Given the description of an element on the screen output the (x, y) to click on. 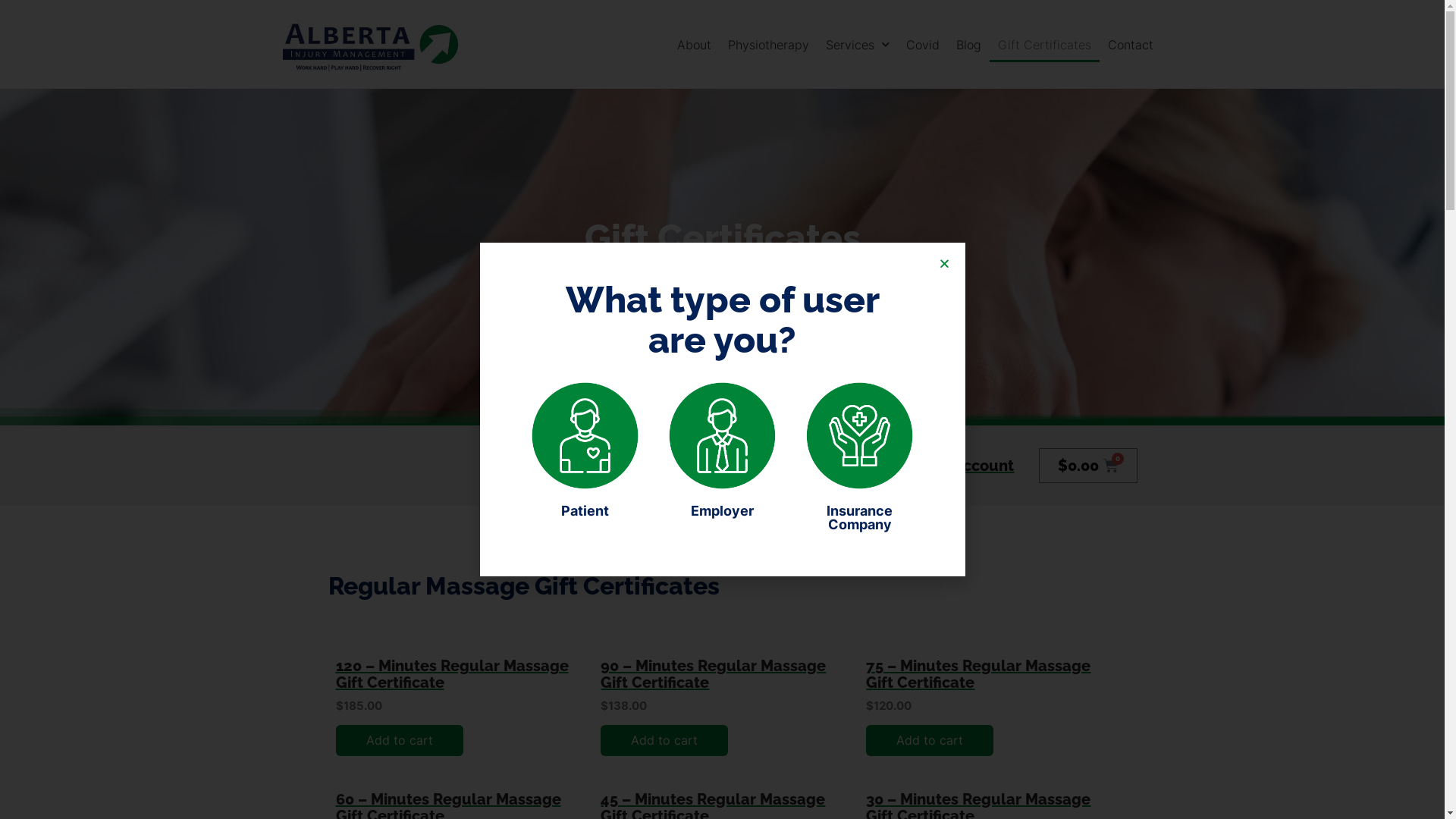
Add to cart Element type: text (664, 740)
Gift Certificates Element type: text (1044, 44)
My Account Element type: text (871, 465)
Add to cart Element type: text (398, 740)
Covid Element type: text (922, 44)
About Element type: text (693, 44)
Contact Element type: text (1130, 44)
Blog Element type: text (968, 44)
Physiotherapy Element type: text (768, 44)
$0.00
0 Element type: text (1087, 465)
Services Element type: text (857, 44)
Add to cart Element type: text (929, 740)
